Given the description of an element on the screen output the (x, y) to click on. 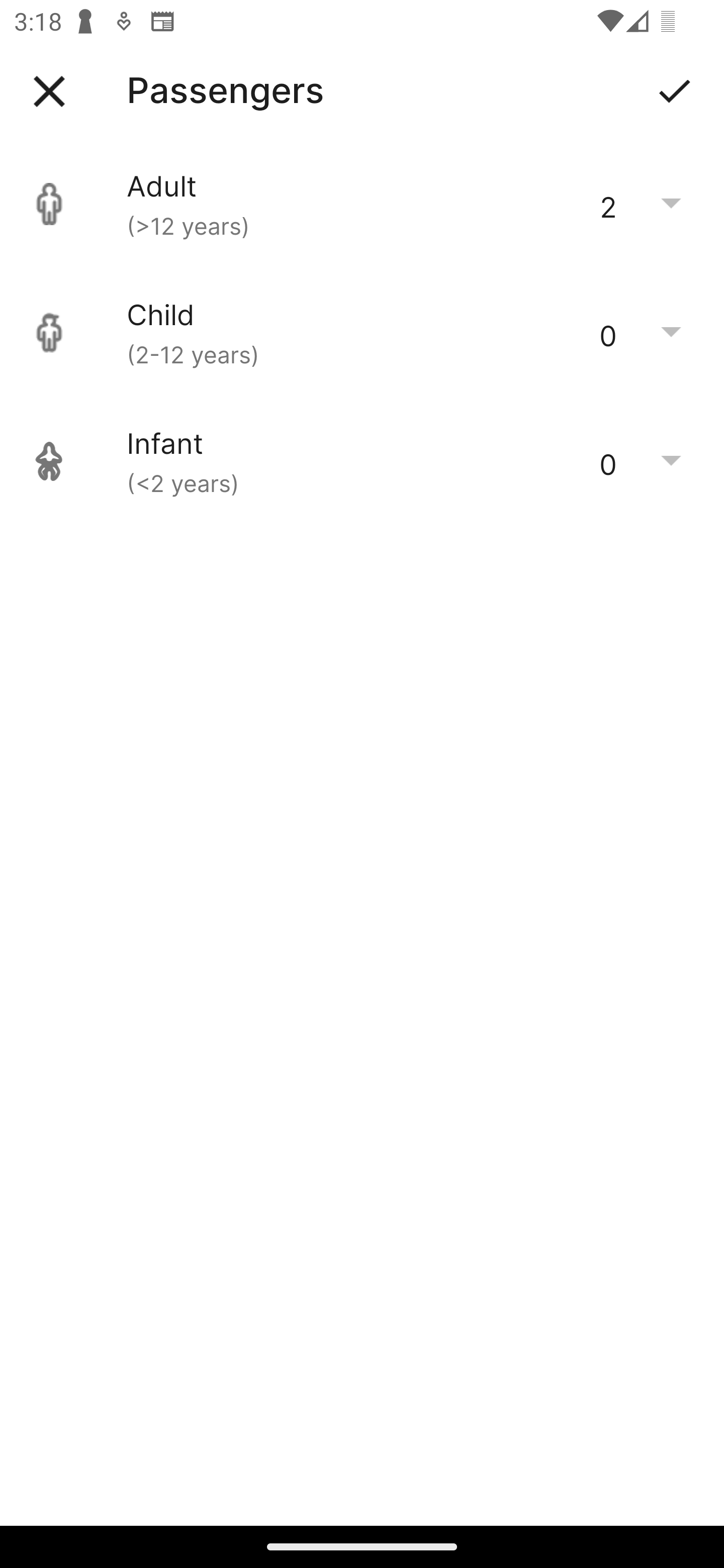
Adult (>12 years) 2 (362, 204)
Child (2-12 years) 0 (362, 332)
Infant (<2 years) 0 (362, 461)
